Given the description of an element on the screen output the (x, y) to click on. 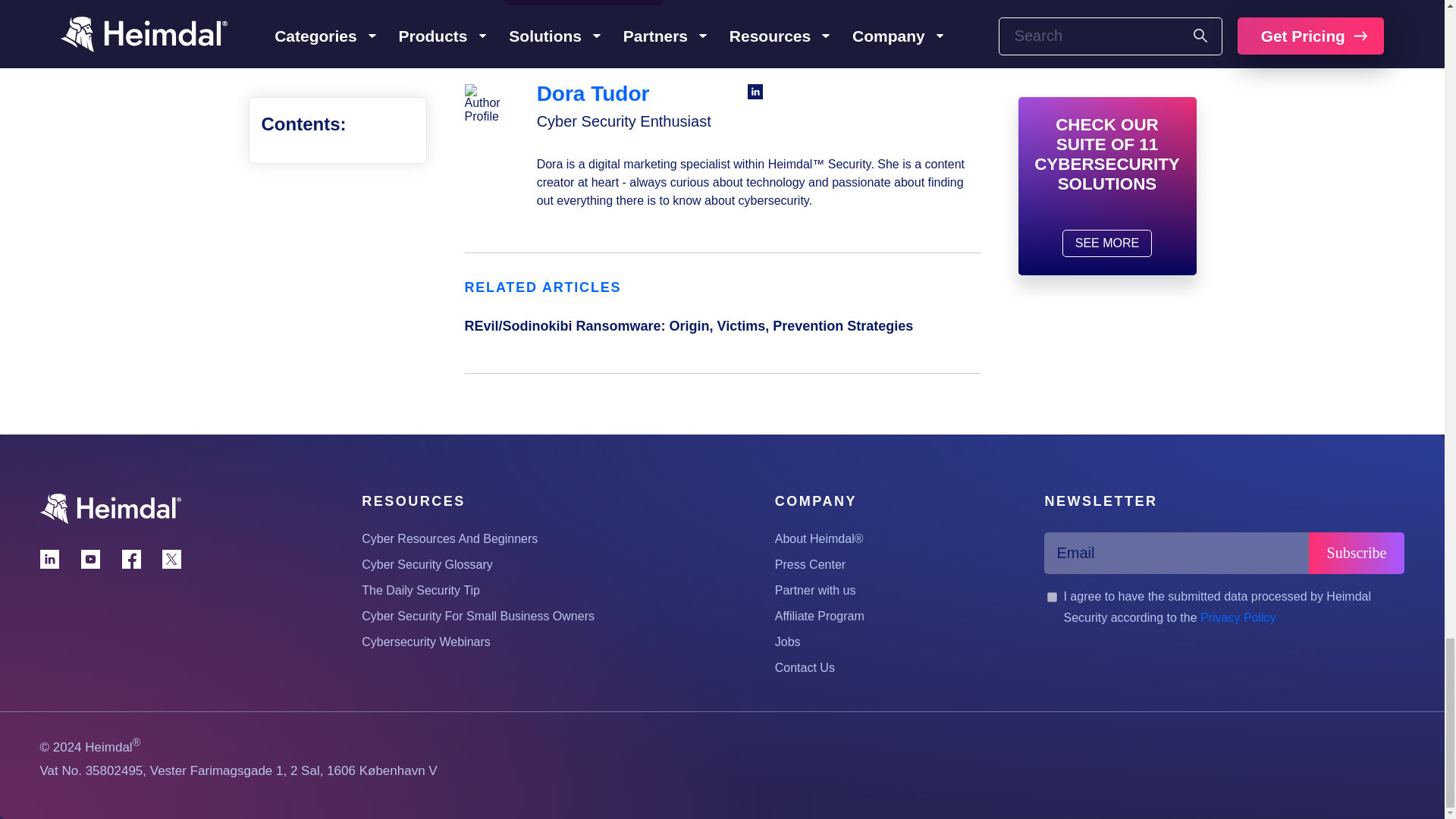
1 (1051, 596)
